Given the description of an element on the screen output the (x, y) to click on. 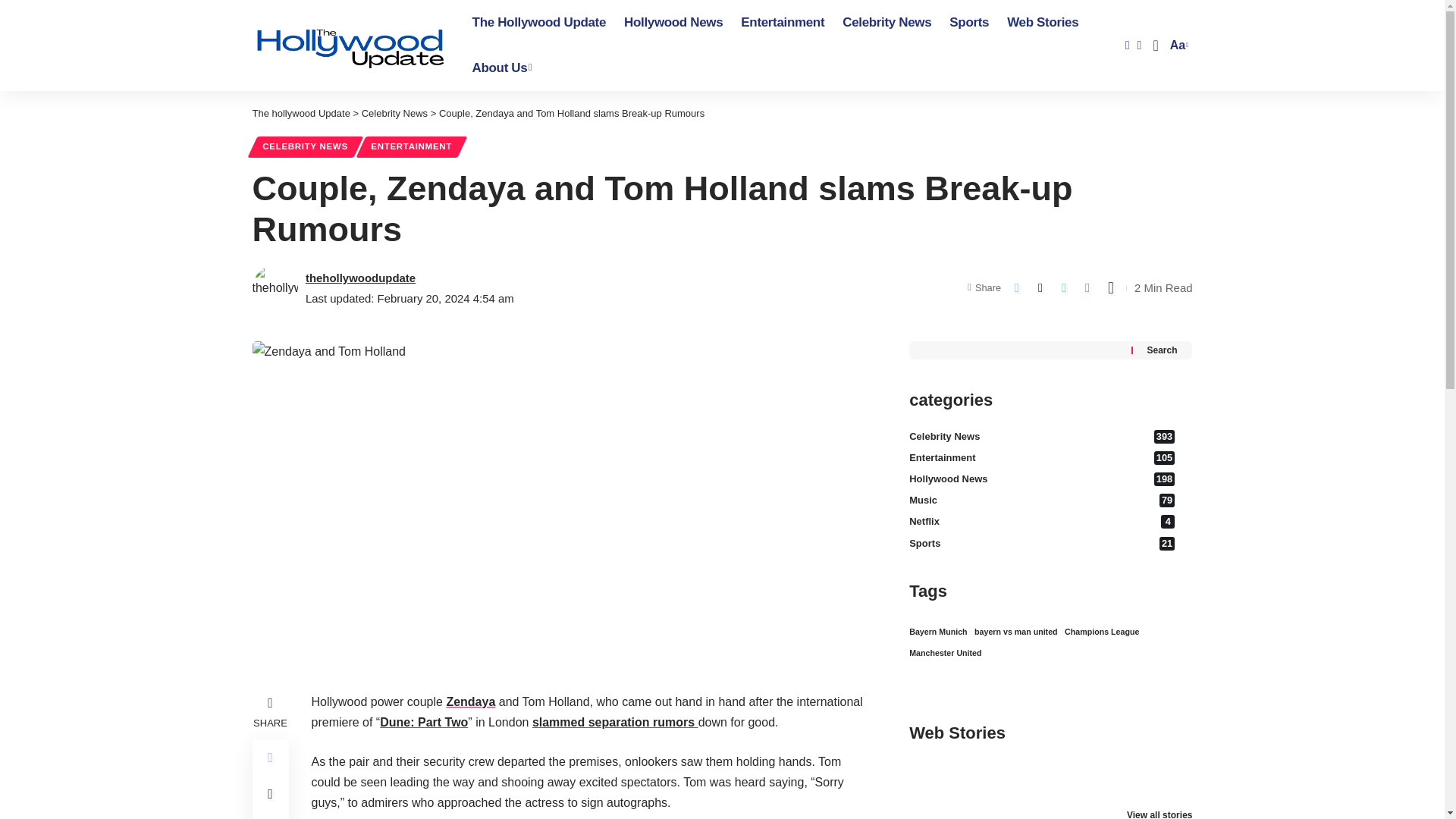
Celebrity News (886, 22)
The Hollywood Update (1177, 45)
Hollywood News (538, 22)
The hollywood Update (673, 22)
Web Stories (348, 44)
Go to The hollywood Update. (1042, 22)
Sports (300, 112)
About Us (968, 22)
Entertainment (502, 67)
Go to the Celebrity News Category archives. (782, 22)
